Given the description of an element on the screen output the (x, y) to click on. 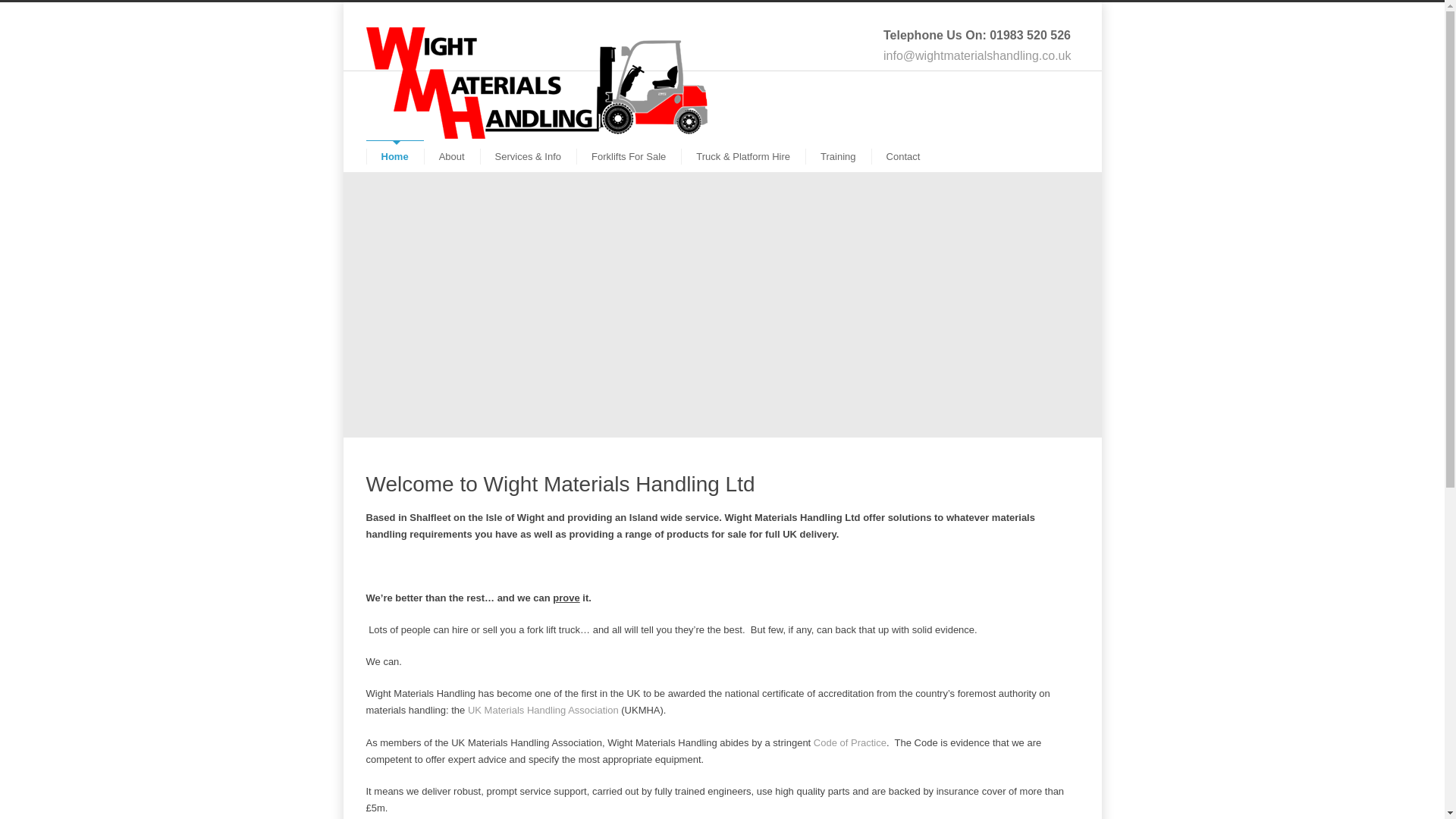
Forklifts For Sale (628, 155)
About (451, 155)
Home (394, 155)
Training (837, 155)
Contact (903, 155)
Code of Practice (849, 742)
UK Materials Handling Association (542, 709)
